Given the description of an element on the screen output the (x, y) to click on. 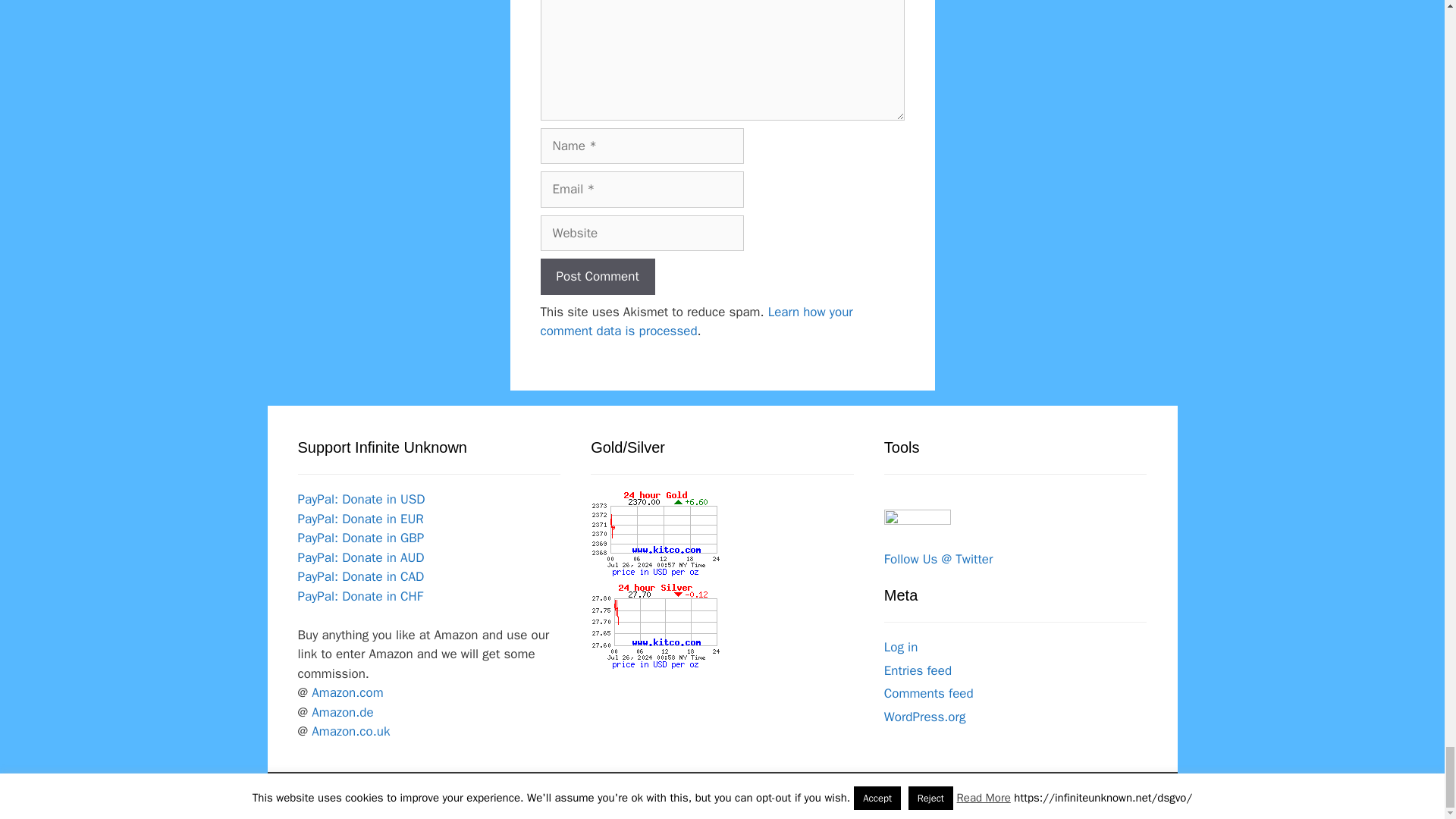
Post Comment (596, 276)
